Given the description of an element on the screen output the (x, y) to click on. 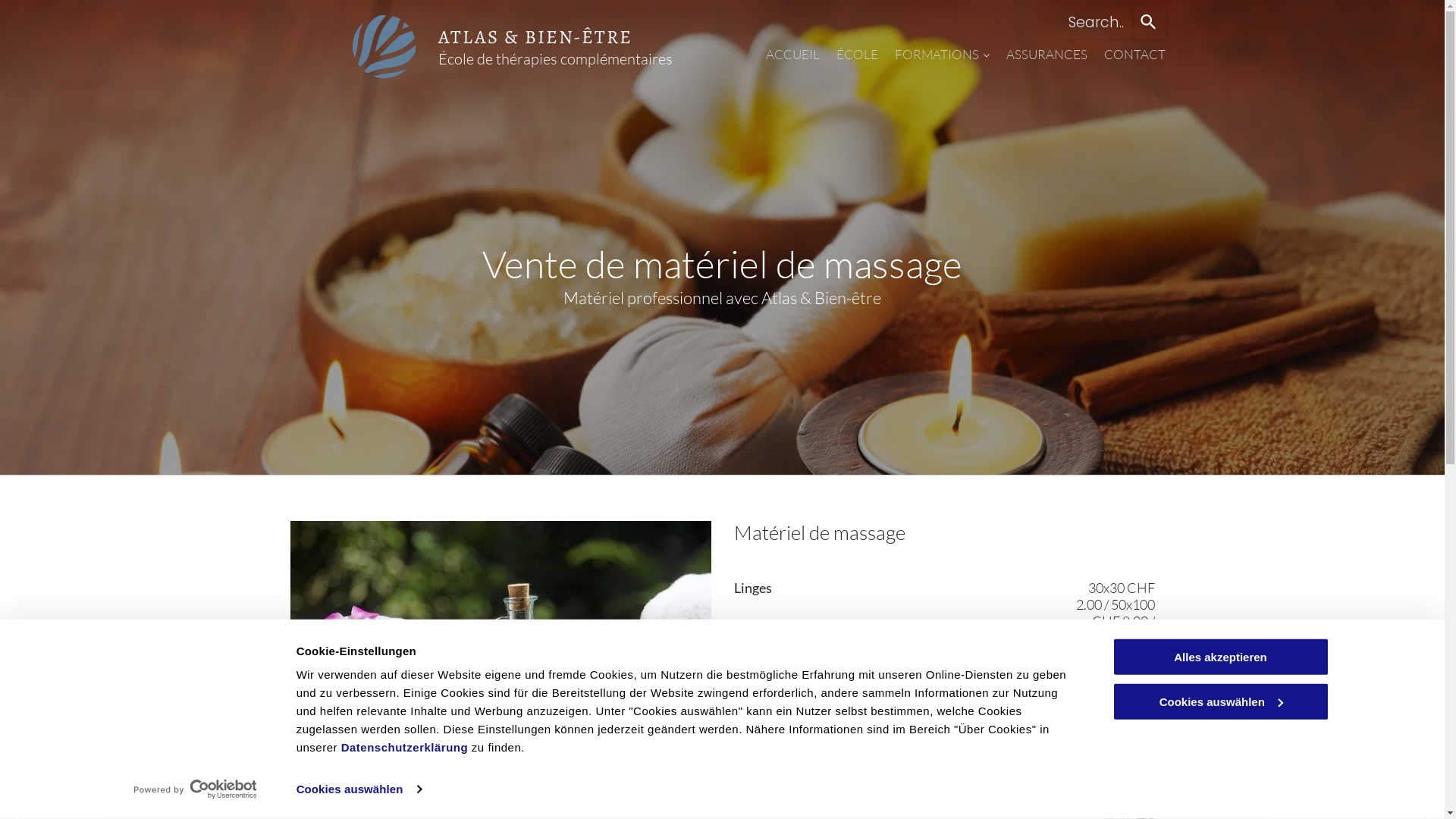
Alles akzeptieren Element type: text (1219, 656)
ASSURANCES Element type: text (1046, 56)
FORMATIONS Element type: text (941, 56)
ACCUEIL Element type: text (792, 56)
CONTACT Element type: text (1134, 56)
